Given the description of an element on the screen output the (x, y) to click on. 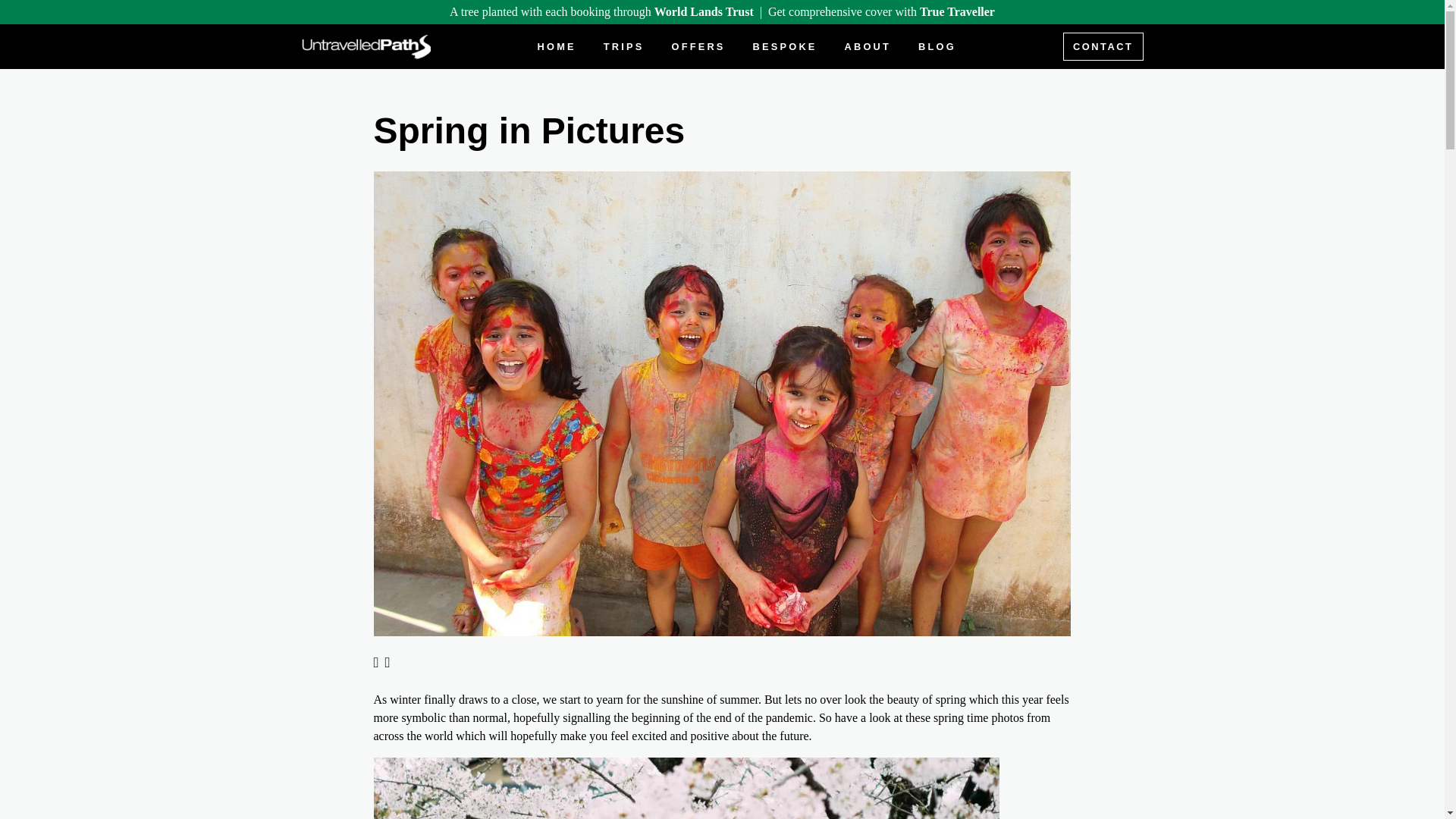
OFFERS (697, 46)
ABOUT (868, 46)
World Lands Trust (703, 11)
CONTACT (1102, 46)
True Traveller (957, 11)
BLOG (937, 46)
HOME (556, 46)
TRIPS (623, 46)
BESPOKE (785, 46)
